Given the description of an element on the screen output the (x, y) to click on. 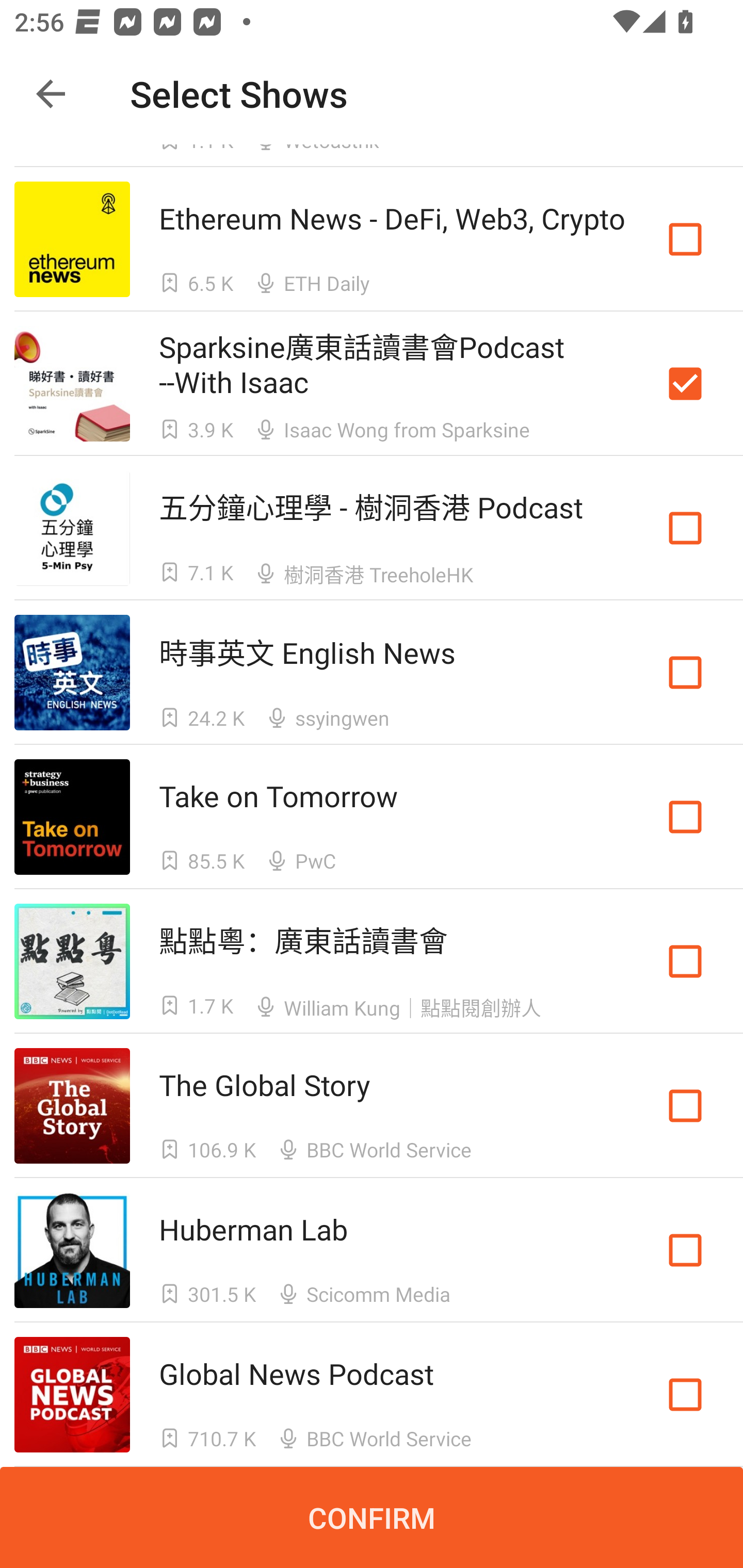
Navigate up (50, 93)
Take on Tomorrow Take on Tomorrow  85.5 K  PwC (371, 816)
CONFIRM (371, 1517)
